Given the description of an element on the screen output the (x, y) to click on. 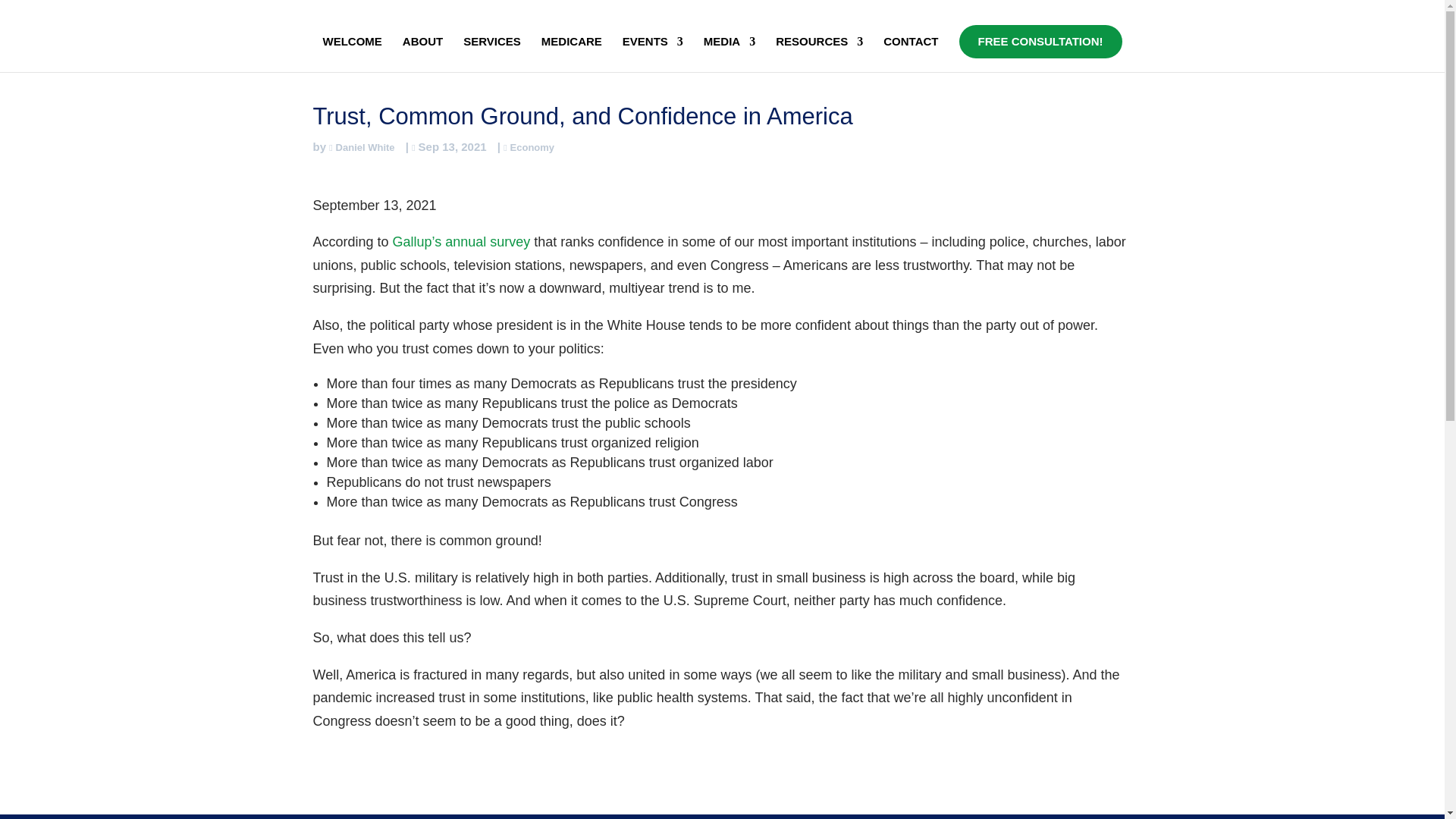
Daniel White (361, 147)
MEDIA (729, 54)
WELCOME (352, 54)
ABOUT (422, 54)
MEDICARE (571, 54)
RESOURCES (819, 54)
Economy (528, 147)
Posts by Daniel White (361, 147)
FREE CONSULTATION! (1039, 41)
SERVICES (492, 54)
